Given the description of an element on the screen output the (x, y) to click on. 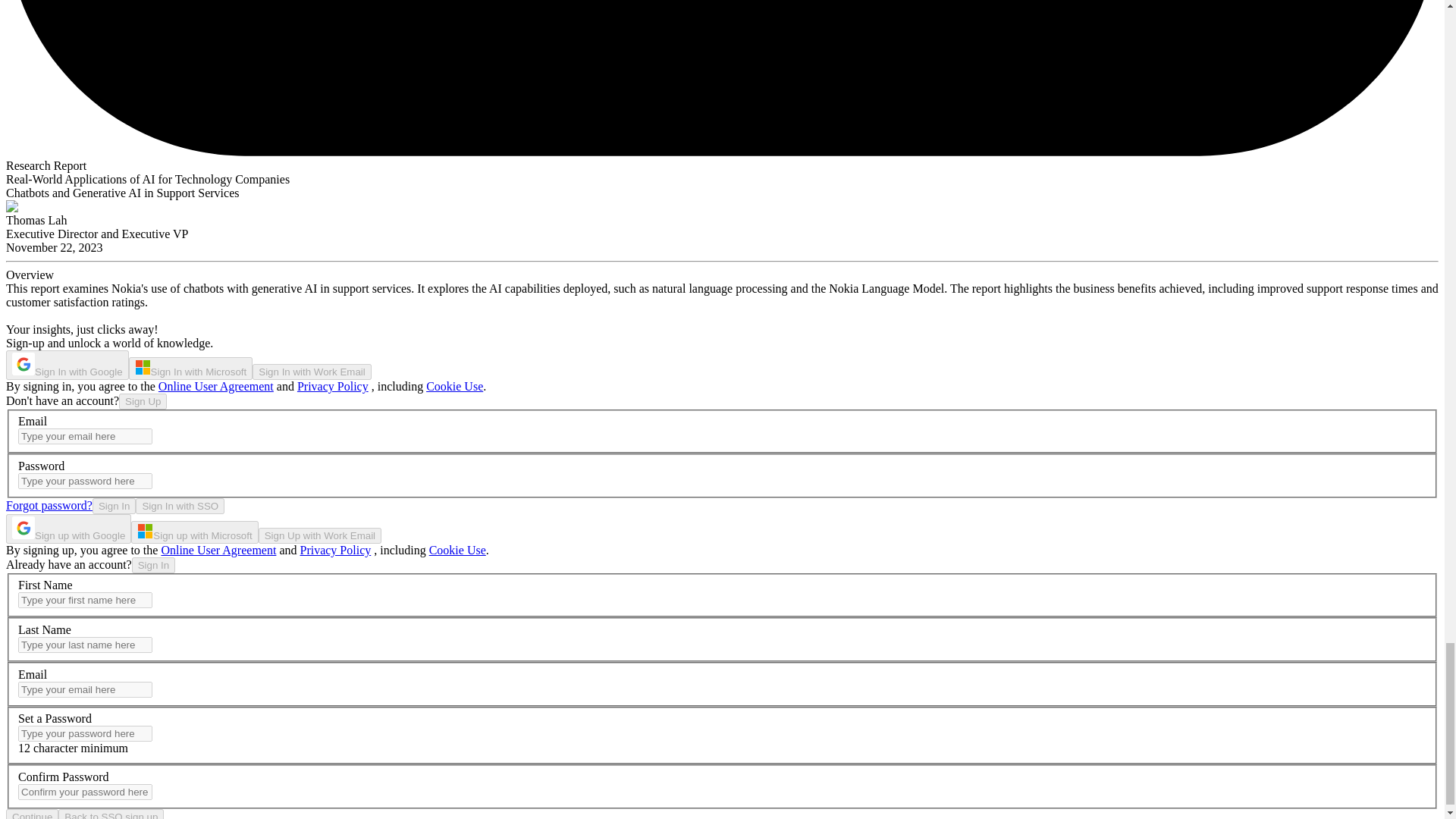
Online User Agreement (215, 386)
Sign Up with Work Email (320, 535)
Sign In with Work Email (311, 371)
Privacy Policy (335, 549)
Sign In (114, 505)
MS-SymbolLockupSign up with Microsoft (194, 531)
Sign In (154, 565)
MS-SymbolLockup (144, 530)
Online User Agreement (218, 549)
Sign In with Google (67, 365)
Privacy Policy (332, 386)
MS-SymbolLockup (143, 367)
Forgot password? (49, 504)
Cookie Use (454, 386)
Sign Up (143, 401)
